Given the description of an element on the screen output the (x, y) to click on. 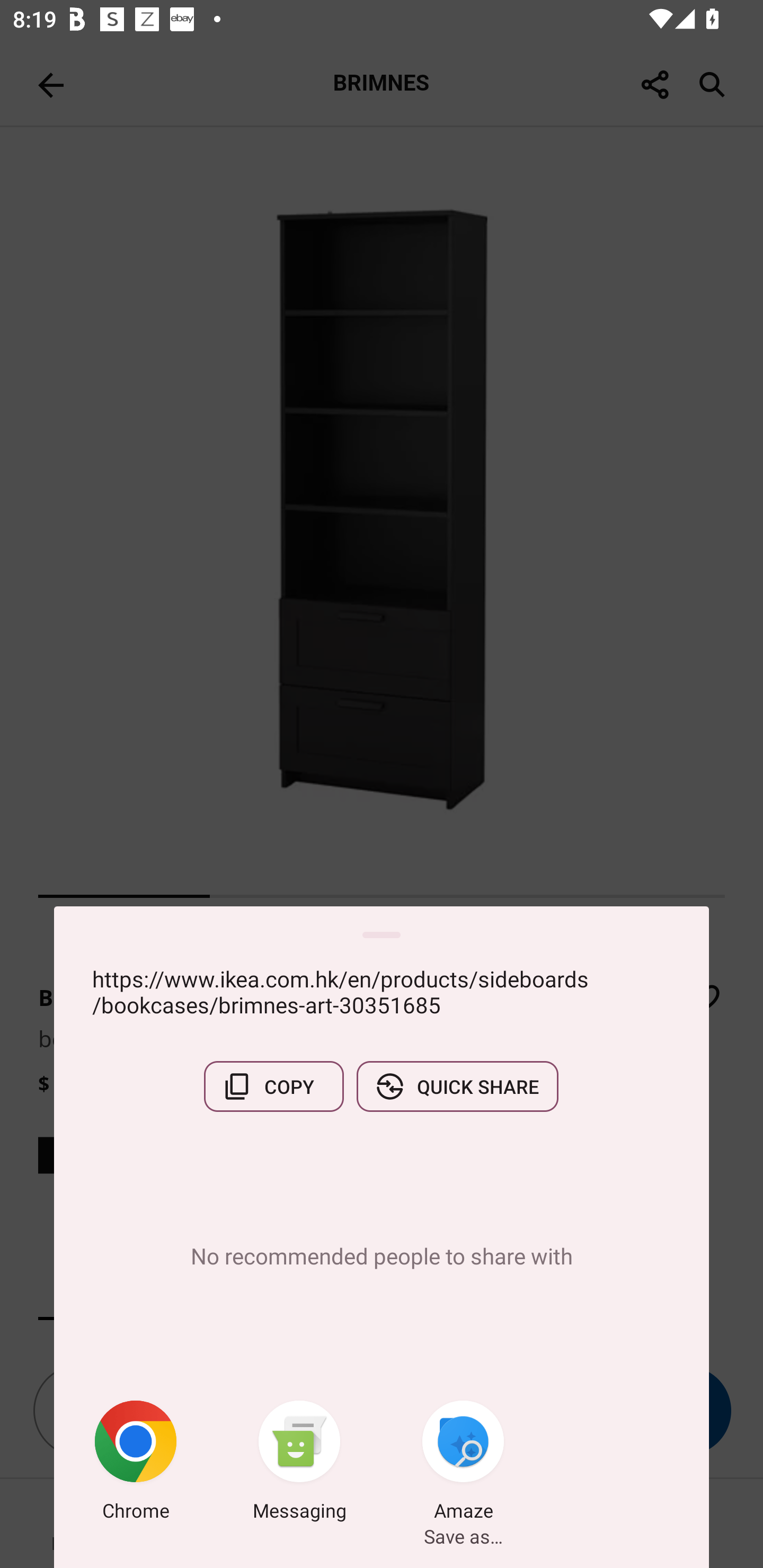
COPY (273, 1086)
QUICK SHARE (457, 1086)
Chrome (135, 1463)
Messaging (299, 1463)
Amaze Save as… (463, 1463)
